Given the description of an element on the screen output the (x, y) to click on. 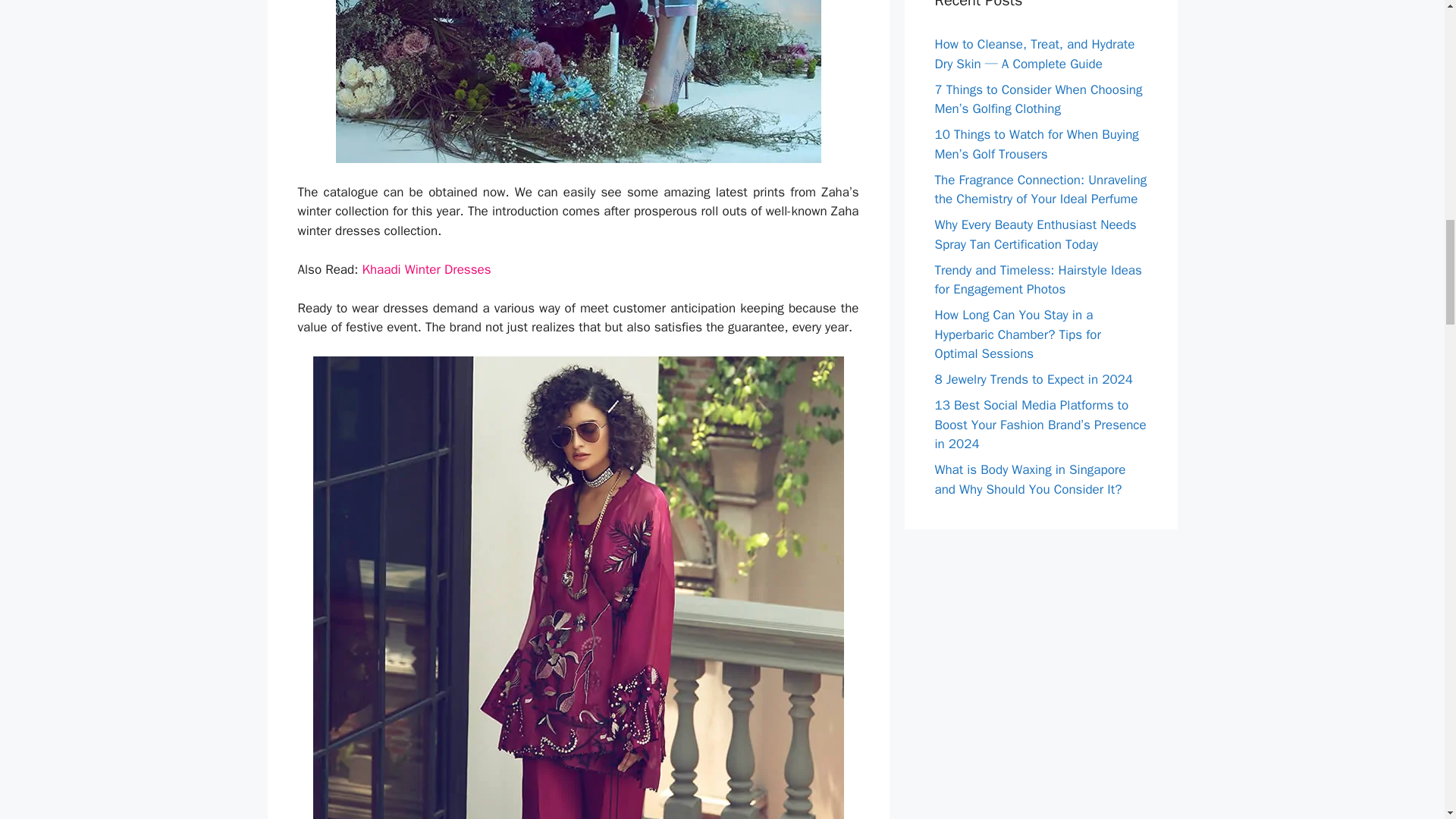
Khaadi Winter Dresses (425, 269)
